Given the description of an element on the screen output the (x, y) to click on. 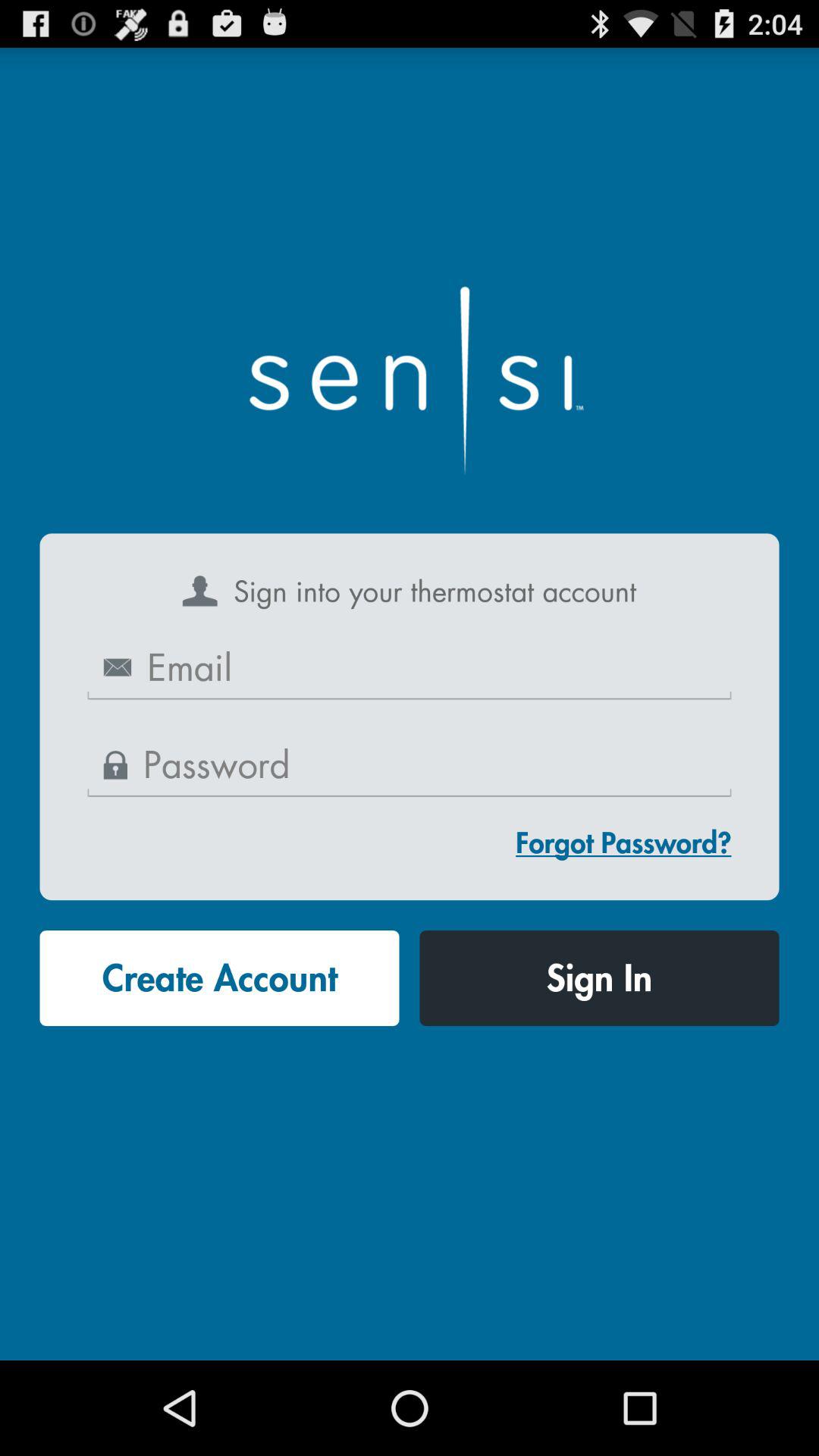
tap button next to create account icon (599, 978)
